Given the description of an element on the screen output the (x, y) to click on. 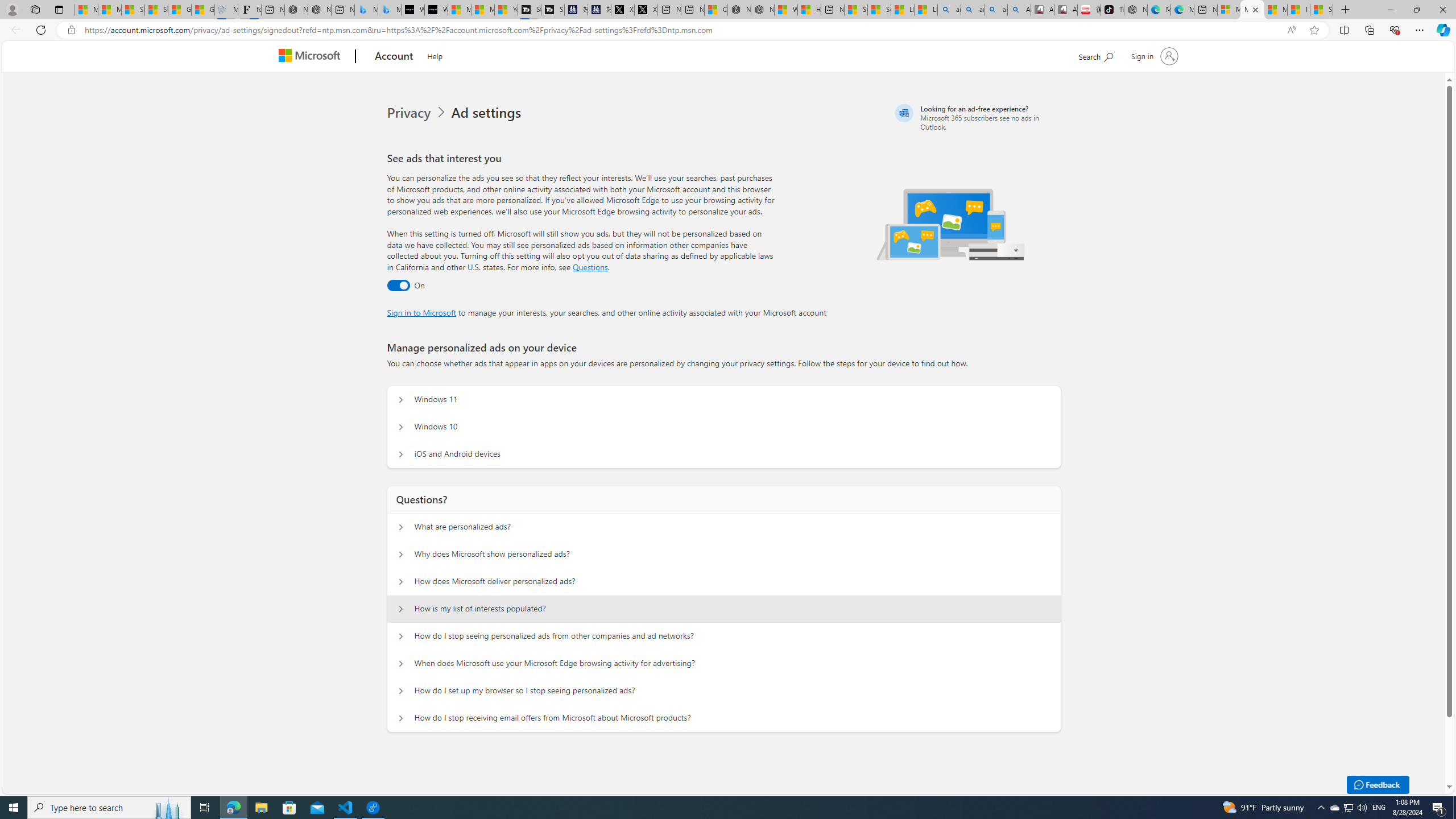
Sign in to your account (1153, 55)
Looking for an ad-free experience? (976, 117)
I Gained 20 Pounds of Muscle in 30 Days! | Watch (1298, 9)
